Given the description of an element on the screen output the (x, y) to click on. 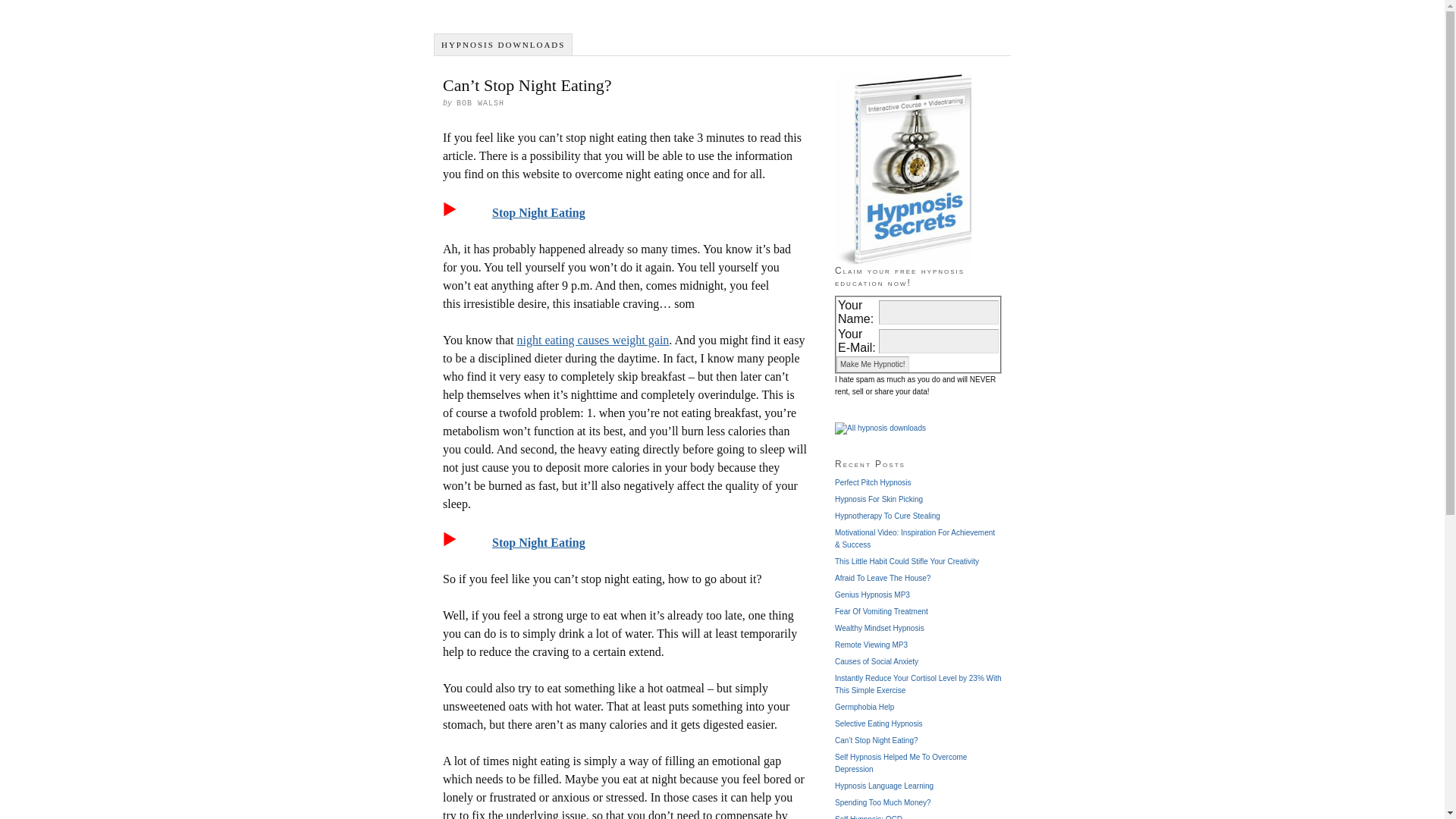
night eating causes weight gain (592, 339)
Fear Of Vomiting Treatment (881, 611)
Germphobia Help (863, 706)
Self Hypnosis Helped Me To Overcome Depression (900, 762)
Genius Hypnosis MP3 (872, 594)
Hypnosis For Skin Picking (878, 499)
Causes of Social Anxiety (876, 661)
Make Me Hypnotic! (871, 364)
Selective Eating Hypnosis (878, 723)
HYPNOSIS DOWNLOADS (502, 44)
